Given the description of an element on the screen output the (x, y) to click on. 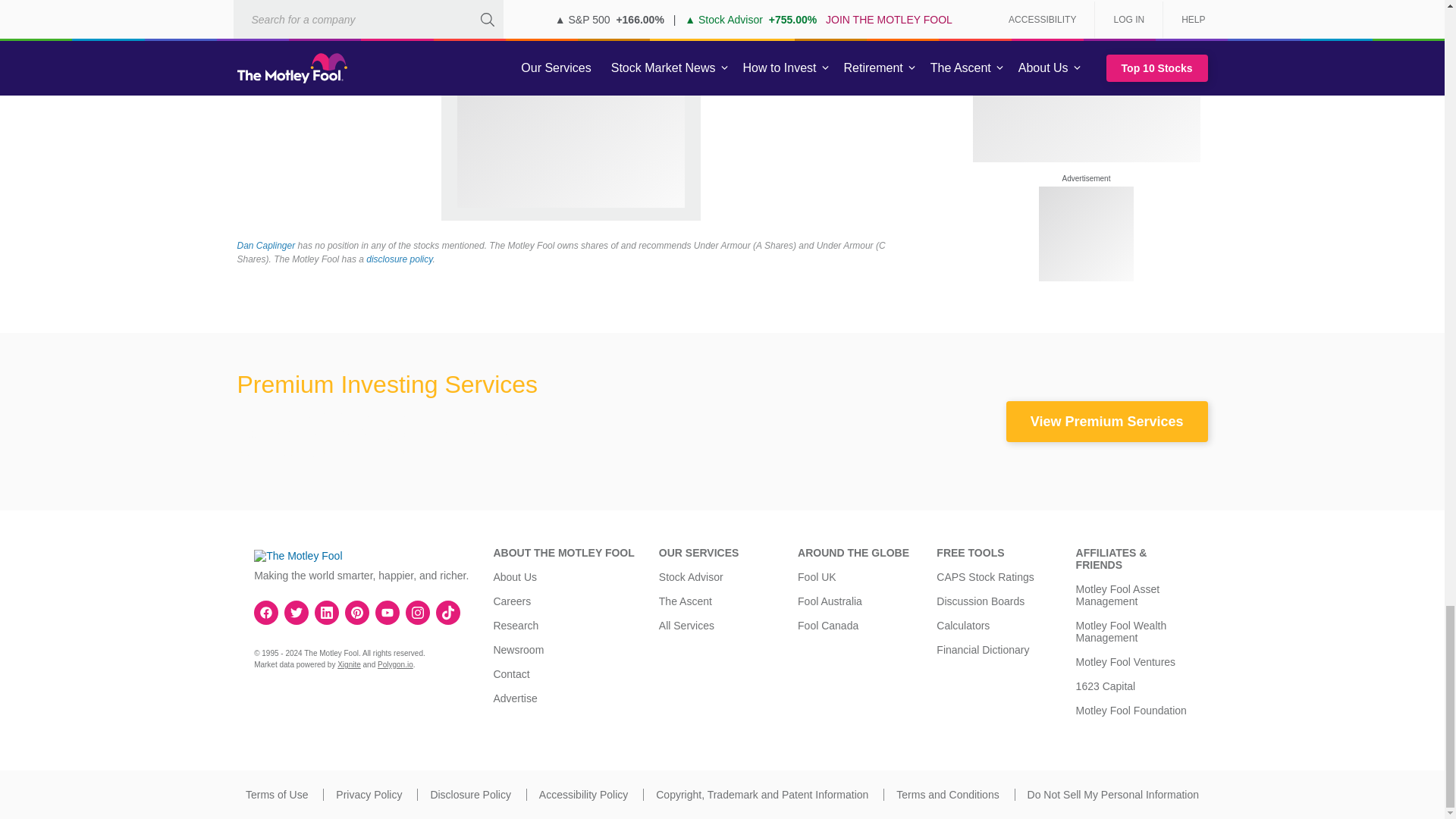
Copyright, Trademark and Patent Information (761, 794)
Do Not Sell My Personal Information. (1112, 794)
Terms and Conditions (947, 794)
Terms of Use (276, 794)
Privacy Policy (368, 794)
Disclosure Policy (470, 794)
Accessibility Policy (582, 794)
